Given the description of an element on the screen output the (x, y) to click on. 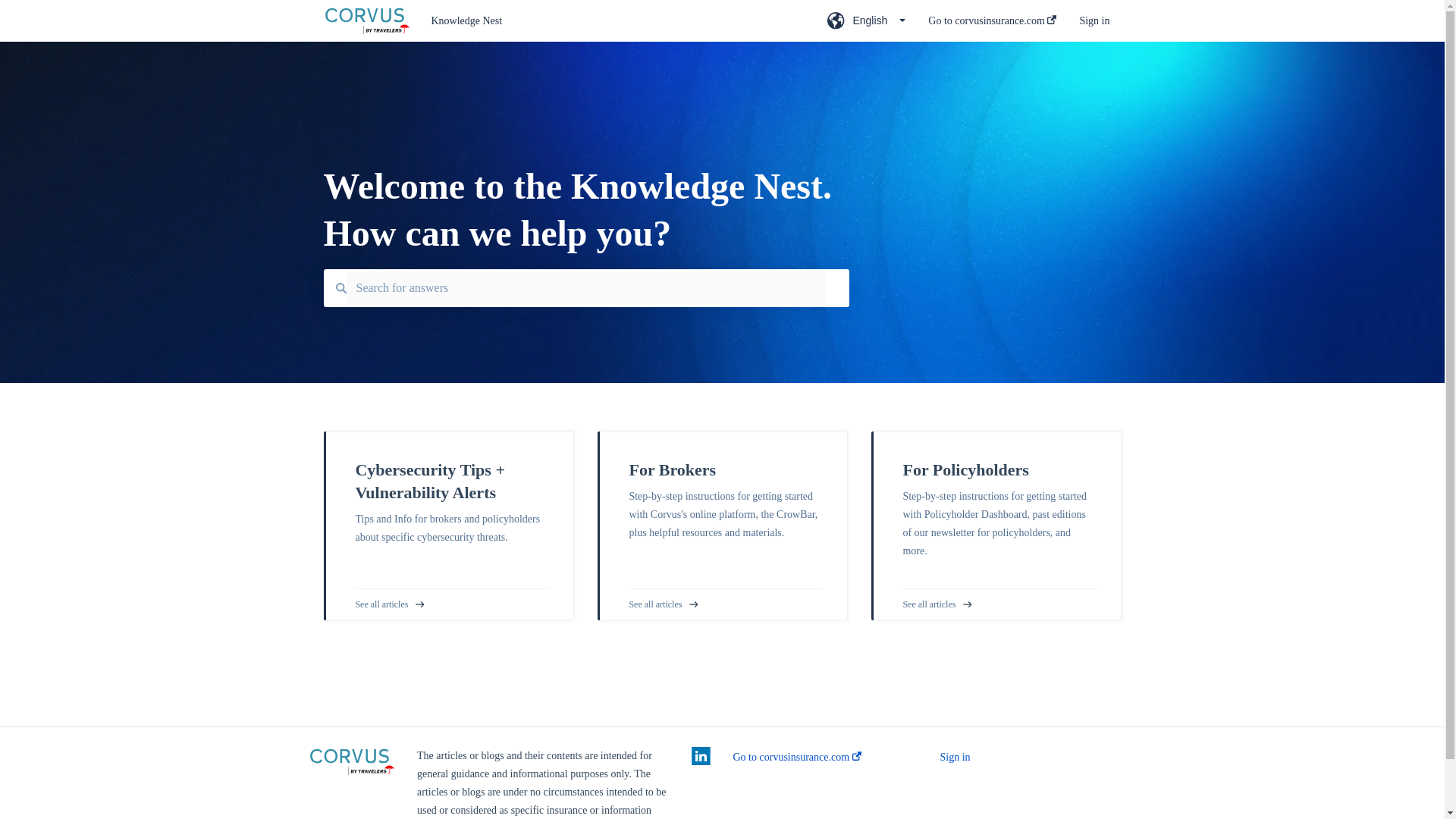
Go to corvusinsurance.com (796, 757)
Go to corvusinsurance.com (992, 25)
Knowledge Nest (605, 21)
Sign in (955, 757)
English (866, 25)
